Given the description of an element on the screen output the (x, y) to click on. 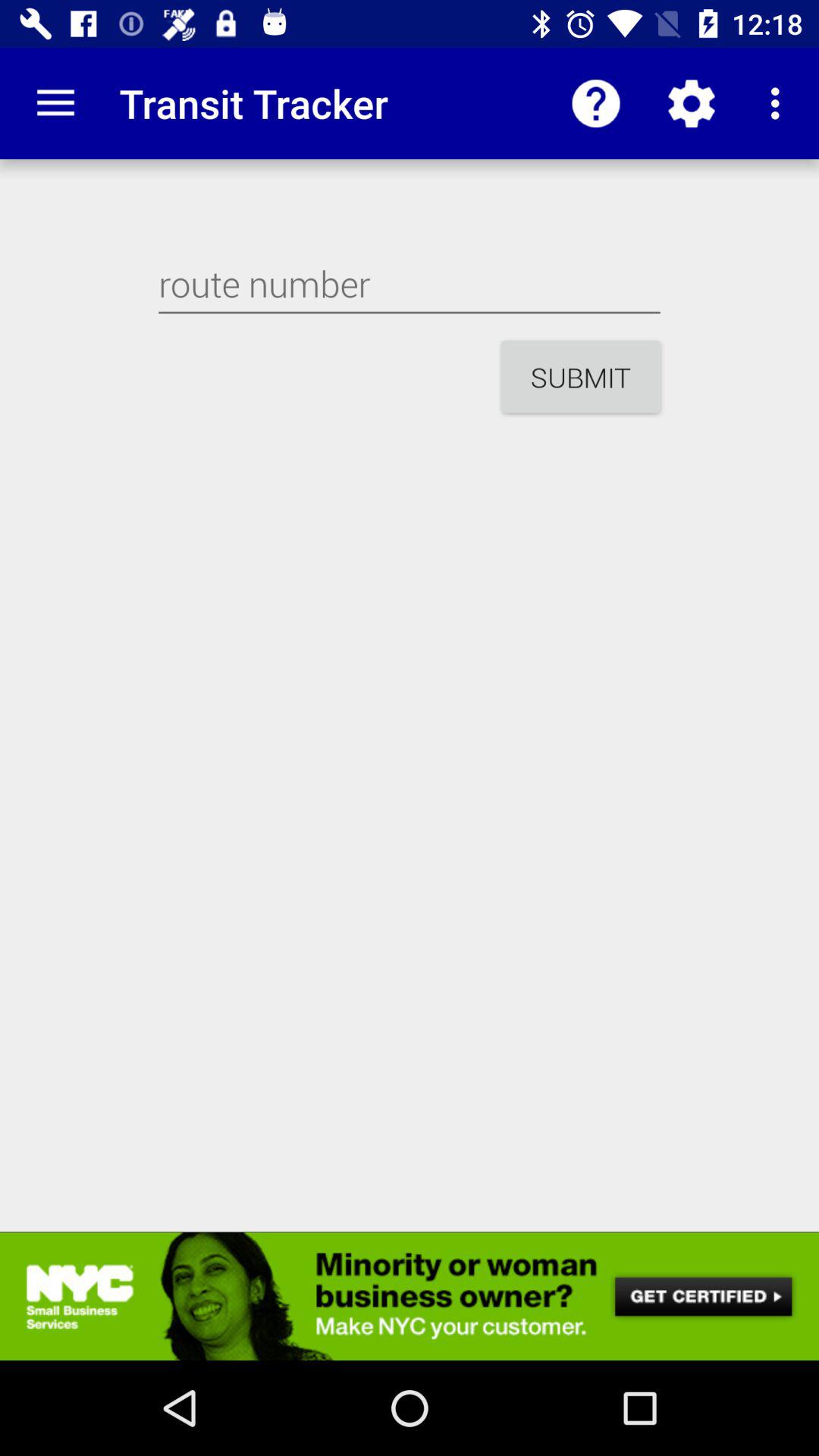
advertisement banner advertisement (409, 1295)
